Given the description of an element on the screen output the (x, y) to click on. 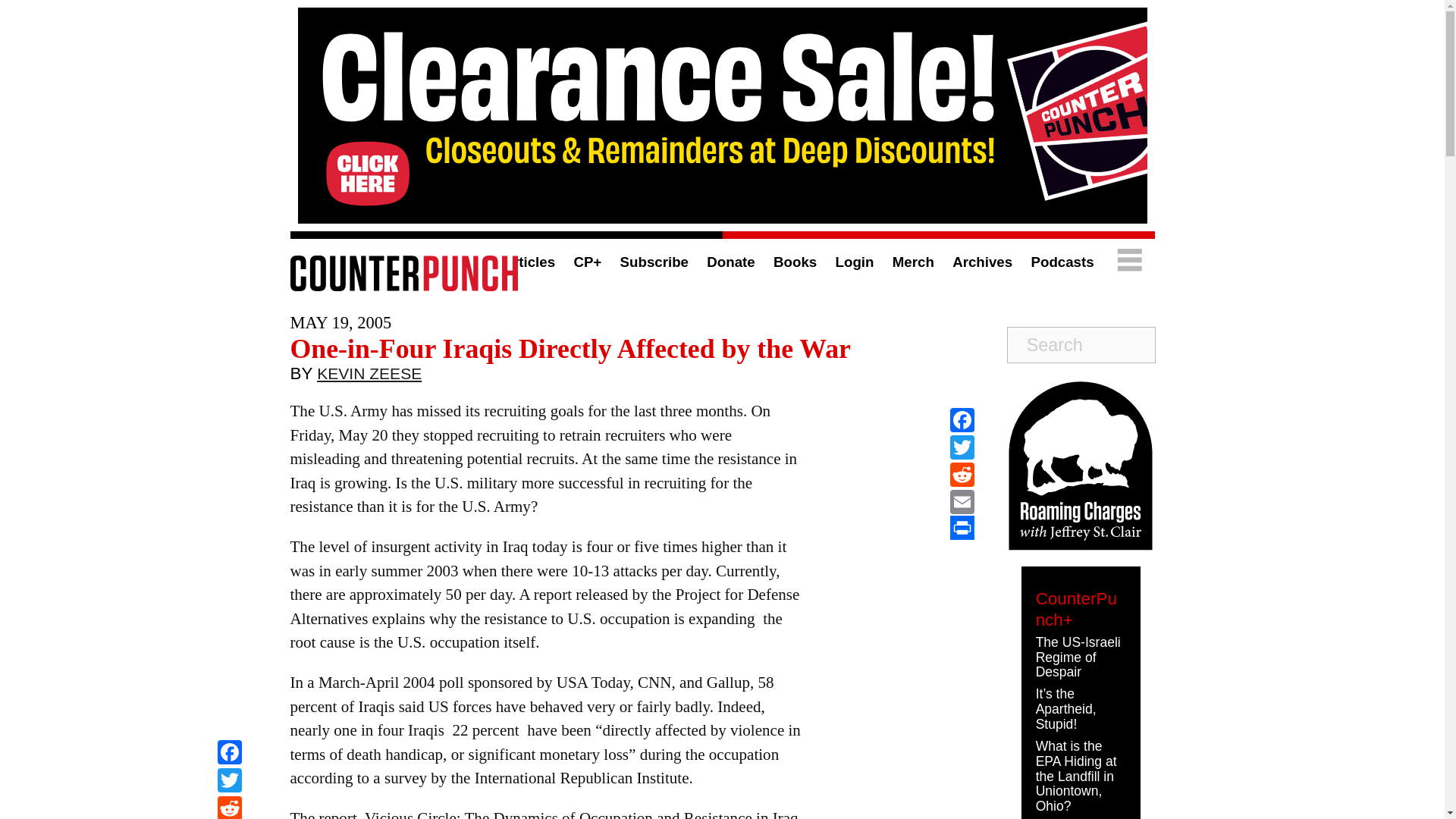
What is the EPA Hiding at the Landfill in Uniontown, Ohio? (1075, 776)
Facebook (962, 420)
Email (962, 501)
Donate (730, 261)
Reddit (962, 474)
Twitter (229, 782)
Articles (528, 261)
Merch (913, 261)
Twitter (962, 447)
Reddit (229, 807)
Facebook (229, 754)
Twitter (229, 782)
Subscribe (654, 261)
KEVIN ZEESE (369, 376)
The US-Israeli Regime of Despair (1078, 657)
